Given the description of an element on the screen output the (x, y) to click on. 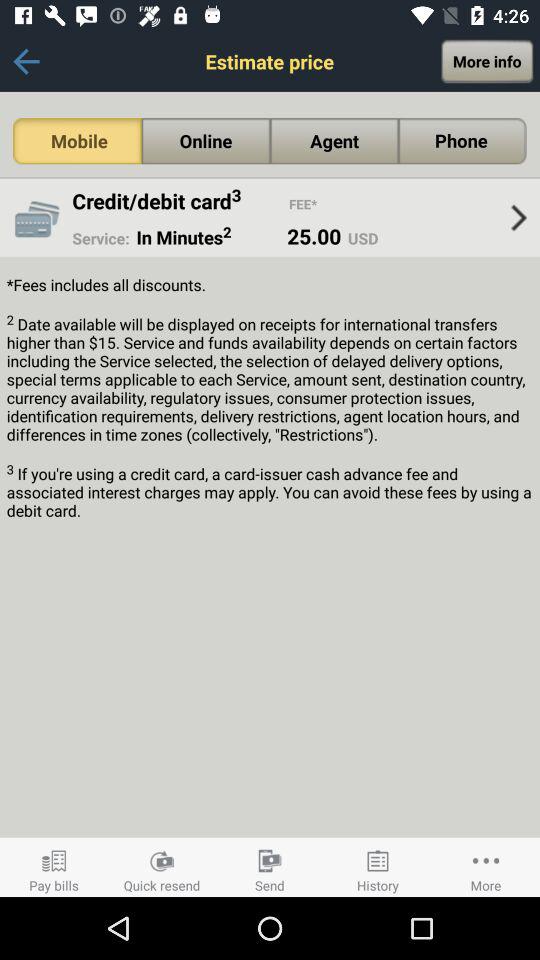
launch the item next to the estimate price (26, 61)
